Given the description of an element on the screen output the (x, y) to click on. 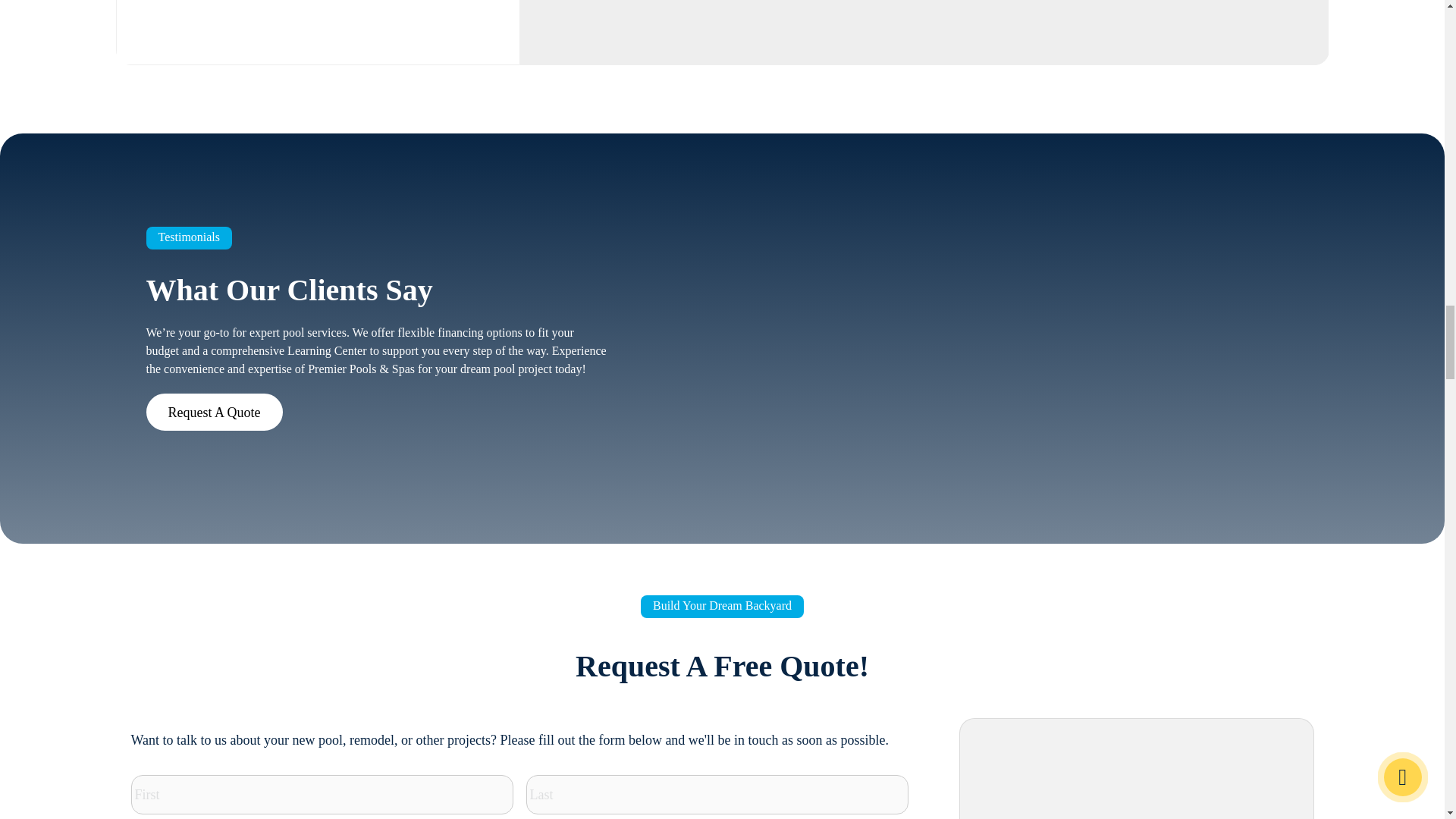
Design Your Pool (1111, 787)
